Given the description of an element on the screen output the (x, y) to click on. 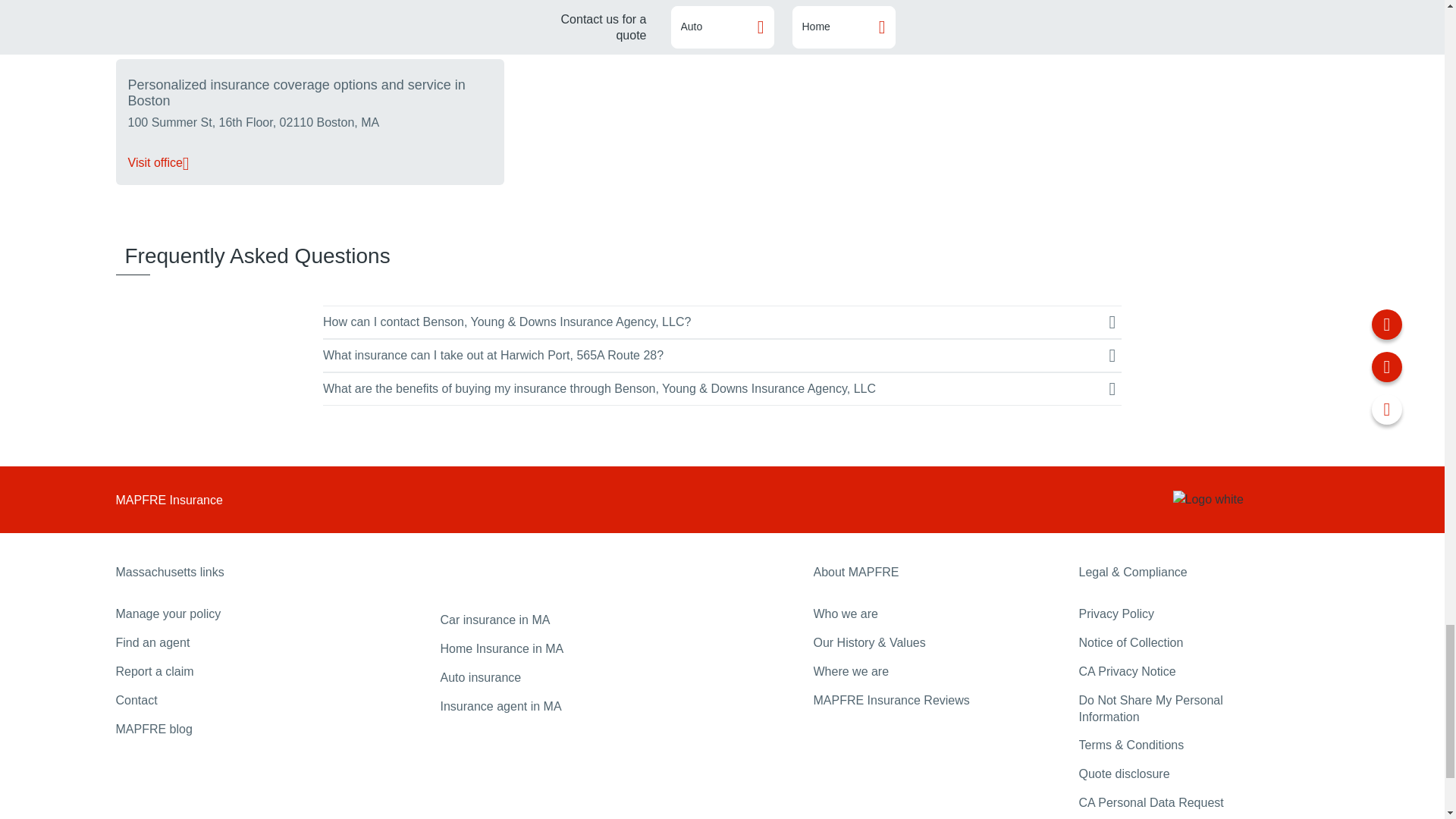
Home Insurance in MA (501, 648)
Report a claim (154, 671)
Contact (136, 699)
Find an agent (152, 642)
MAPFRE blog (153, 728)
Car insurance in MA (494, 619)
Manage your policy (168, 613)
